Given the description of an element on the screen output the (x, y) to click on. 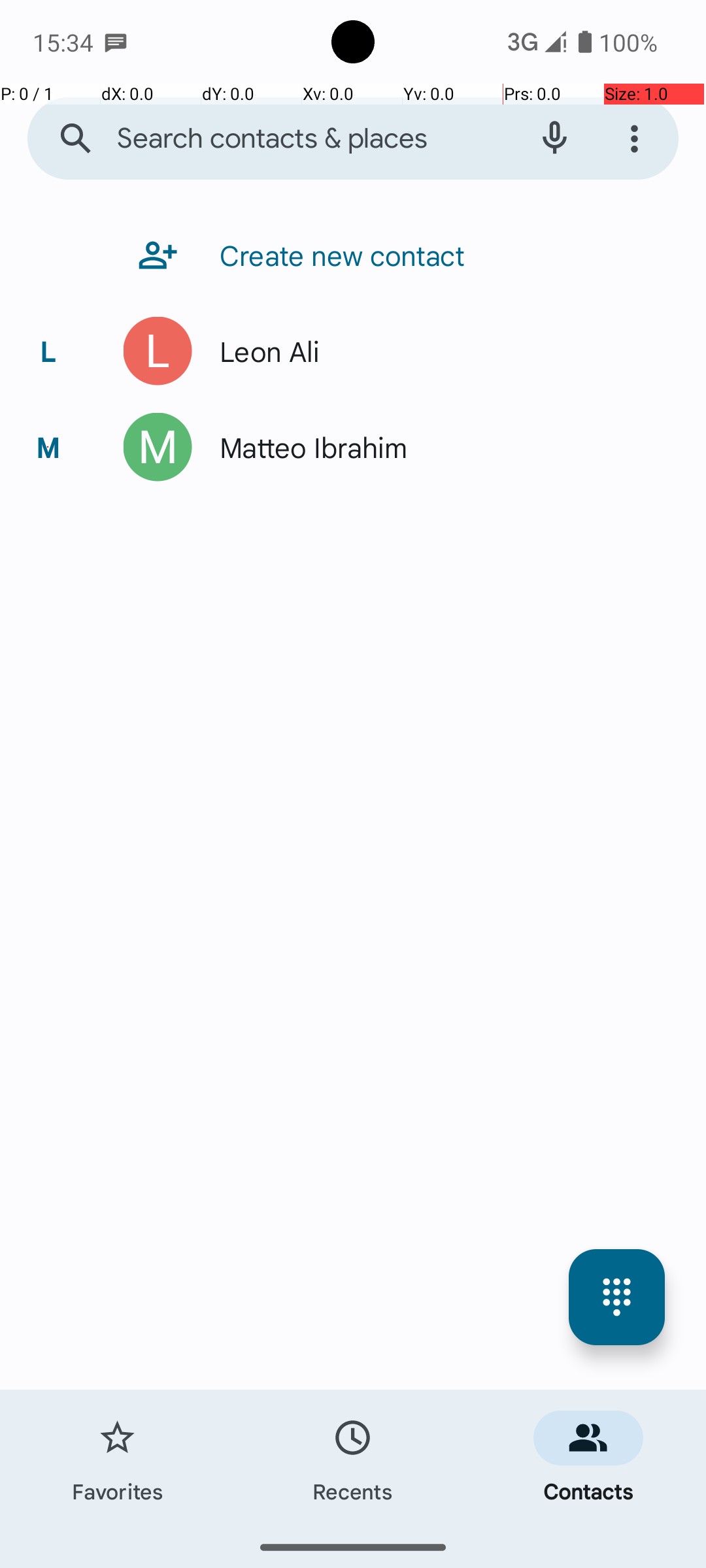
key pad Element type: android.widget.ImageButton (616, 1297)
Recents Element type: android.widget.FrameLayout (352, 1457)
Start voice search Element type: android.widget.Button (554, 138)
Create new contact Element type: android.widget.TextView (335, 254)
Quick contact for Leon Ali Element type: android.widget.QuickContactBadge (157, 350)
Leon Ali Element type: android.widget.TextView (263, 350)
Quick contact for Matteo Ibrahim Element type: android.widget.QuickContactBadge (157, 446)
Matteo Ibrahim Element type: android.widget.TextView (306, 446)
